Given the description of an element on the screen output the (x, y) to click on. 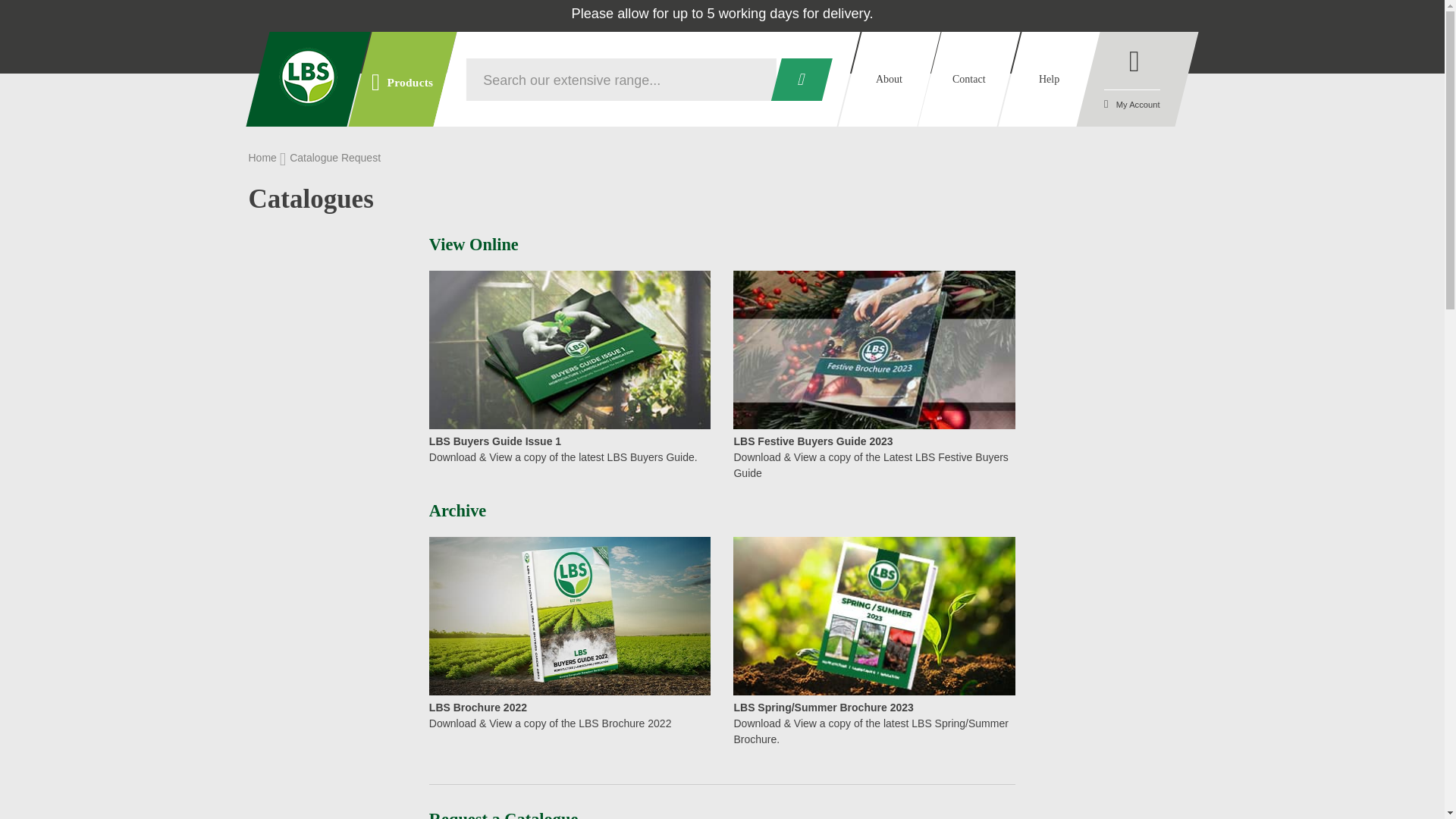
Search (796, 78)
LBS Horticulture (308, 76)
Go to Home Page (263, 157)
